Given the description of an element on the screen output the (x, y) to click on. 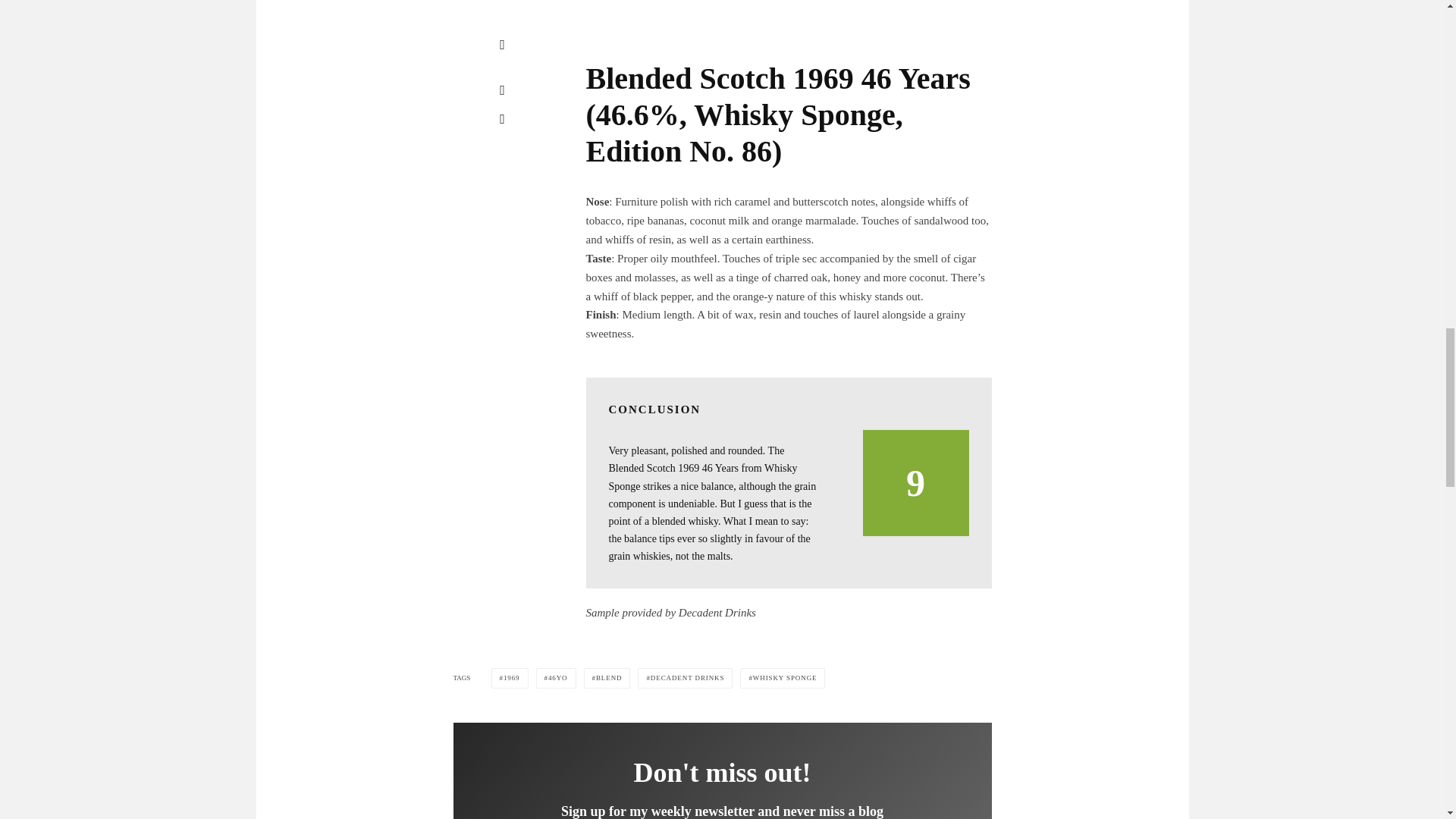
DECADENT DRINKS (684, 678)
WHISKY SPONGE (782, 678)
46YO (555, 678)
BLEND (606, 678)
1969 (510, 678)
